Given the description of an element on the screen output the (x, y) to click on. 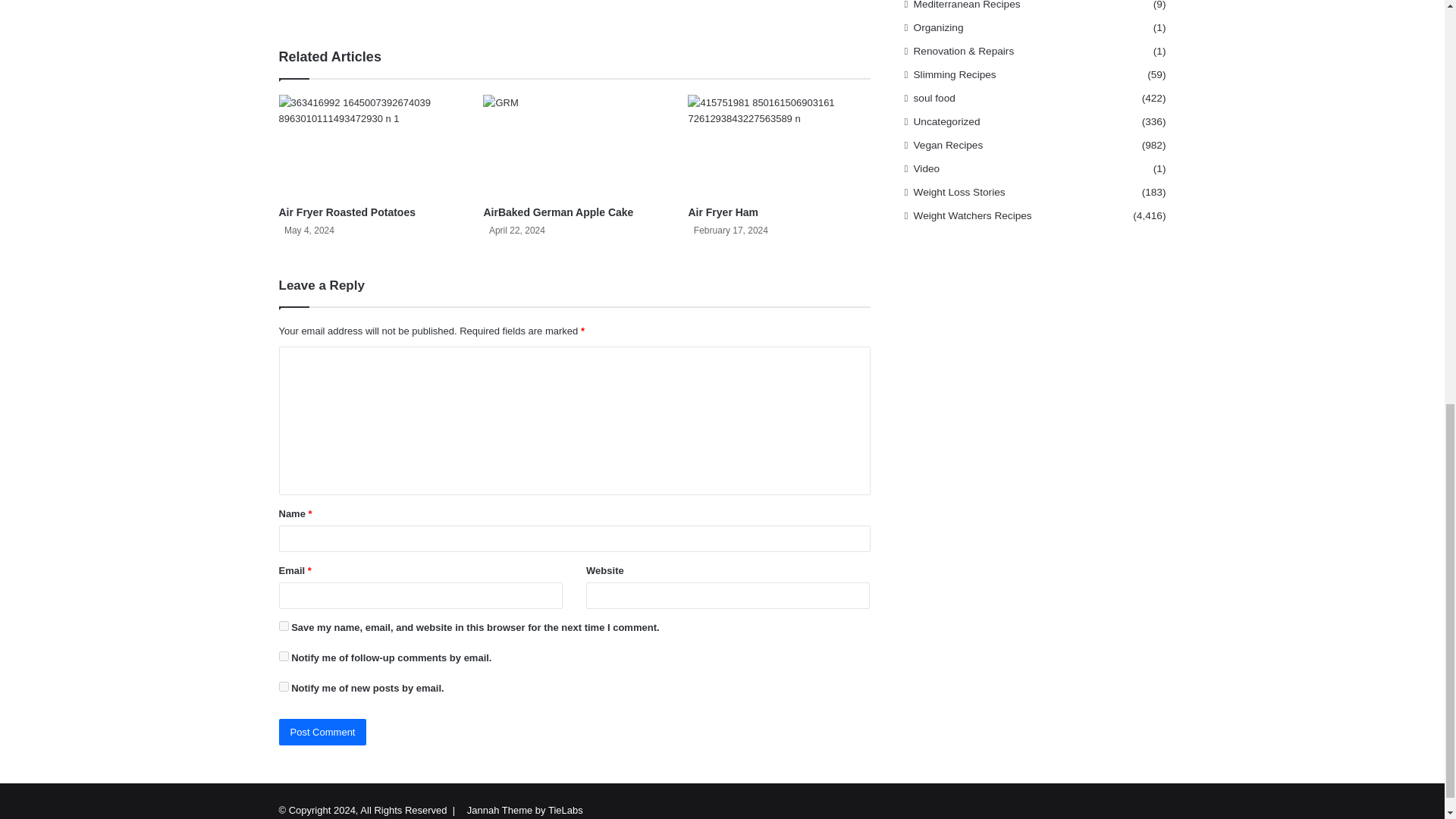
Air Fryer Roasted Potatoes (347, 212)
AirBaked German Apple Cake (558, 212)
Website (381, 4)
yes (283, 625)
subscribe (283, 686)
Post Comment (322, 732)
subscribe (283, 655)
Air Fryer Ham (722, 212)
Post Comment (322, 732)
